Given the description of an element on the screen output the (x, y) to click on. 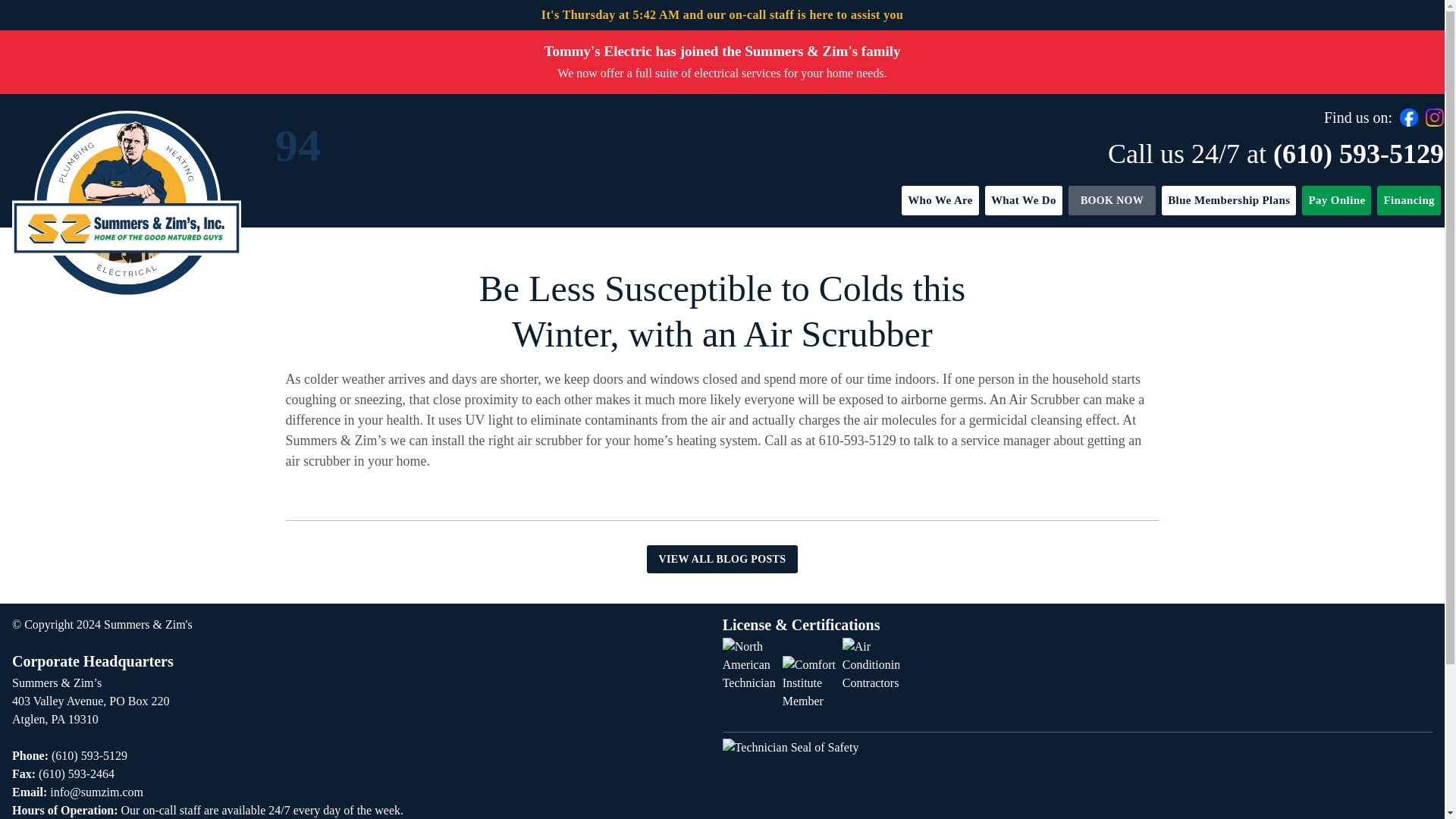
BOOK NOW (1112, 200)
What We Do (1023, 200)
Who We Are (939, 200)
Financing (1409, 200)
Blue Membership Plans (1228, 200)
VIEW ALL BLOG POSTS (721, 559)
Pay Online (1336, 200)
